Given the description of an element on the screen output the (x, y) to click on. 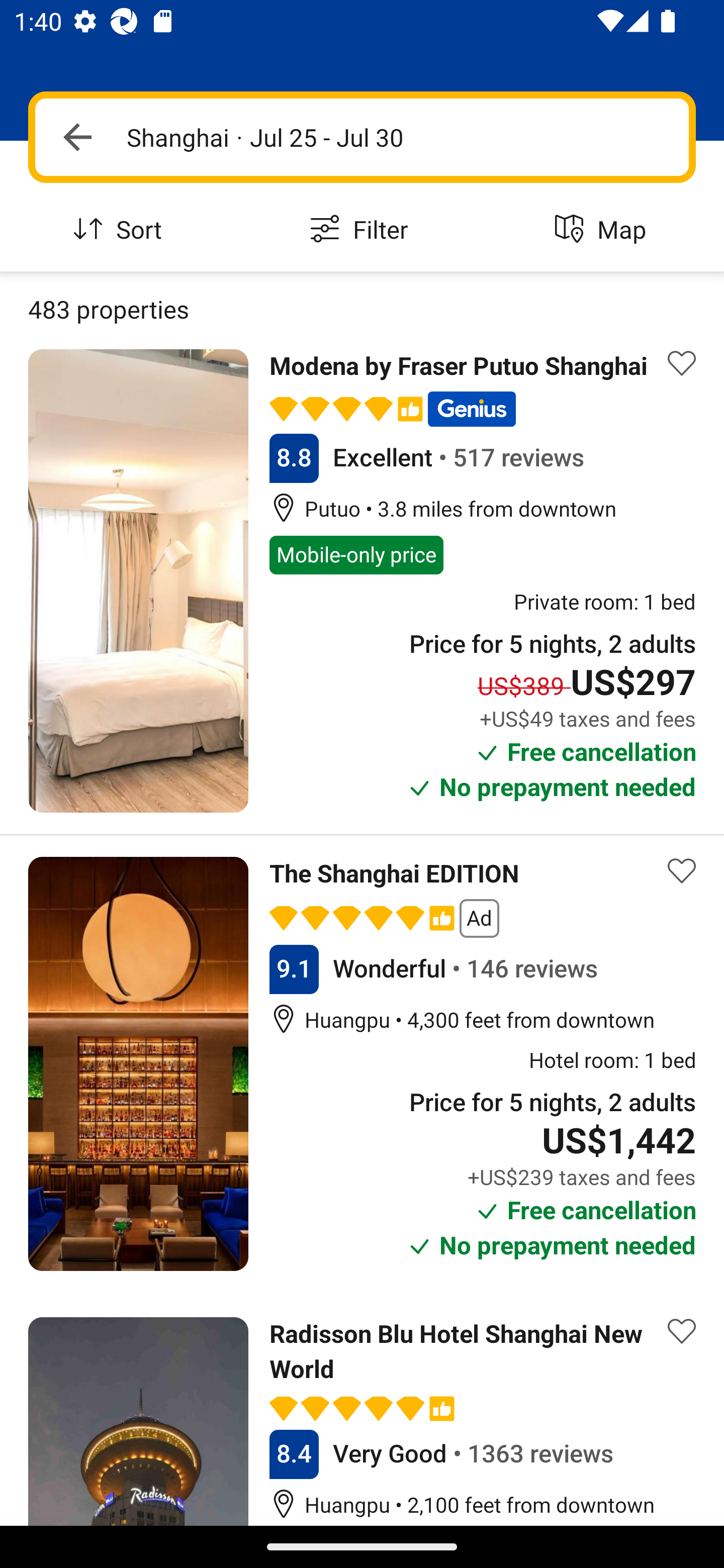
Navigate up Shanghai · Jul 25 - Jul 30 (362, 136)
Navigate up (77, 136)
Sort (120, 230)
Filter (361, 230)
Map (603, 230)
Save property to list (681, 363)
Save property to list (681, 870)
Save property to list (681, 1330)
